Given the description of an element on the screen output the (x, y) to click on. 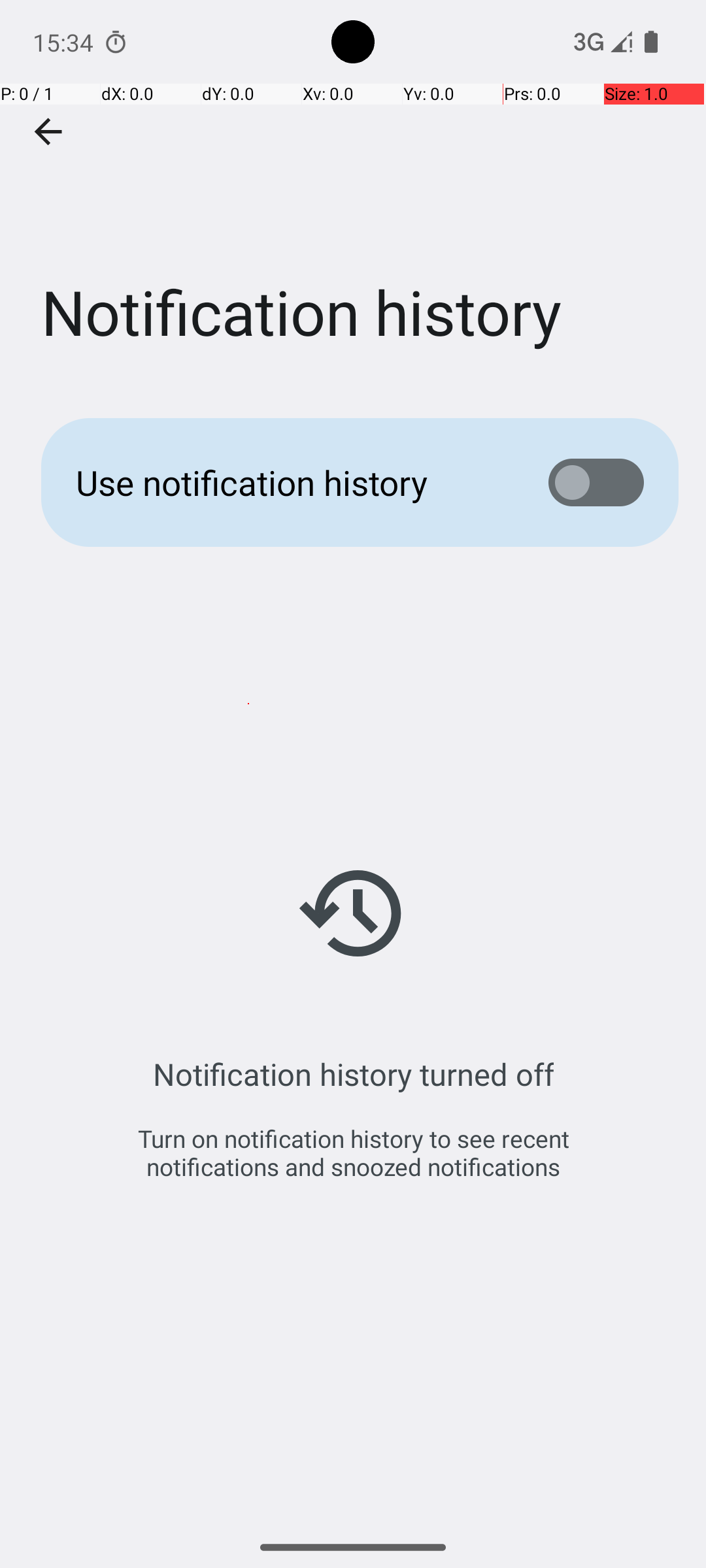
Notification history turned off Element type: android.widget.TextView (352, 1073)
Turn on notification history to see recent notifications and snoozed notifications Element type: android.widget.TextView (352, 1152)
